Given the description of an element on the screen output the (x, y) to click on. 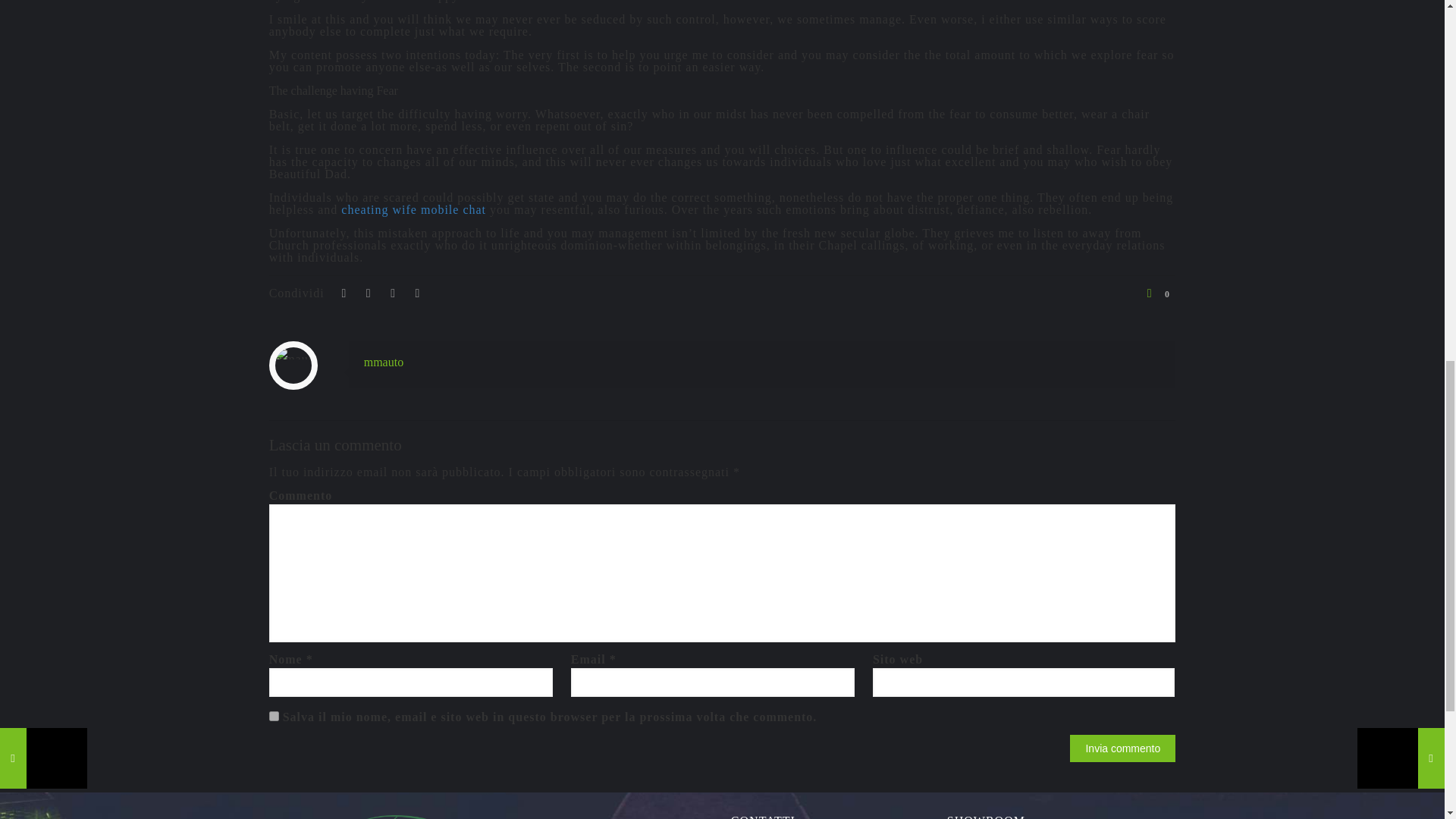
Invia commento (1122, 748)
mmauto (383, 361)
cheating wife mobile chat (413, 209)
0 (1157, 293)
Invia commento (1122, 748)
yes (274, 716)
